Given the description of an element on the screen output the (x, y) to click on. 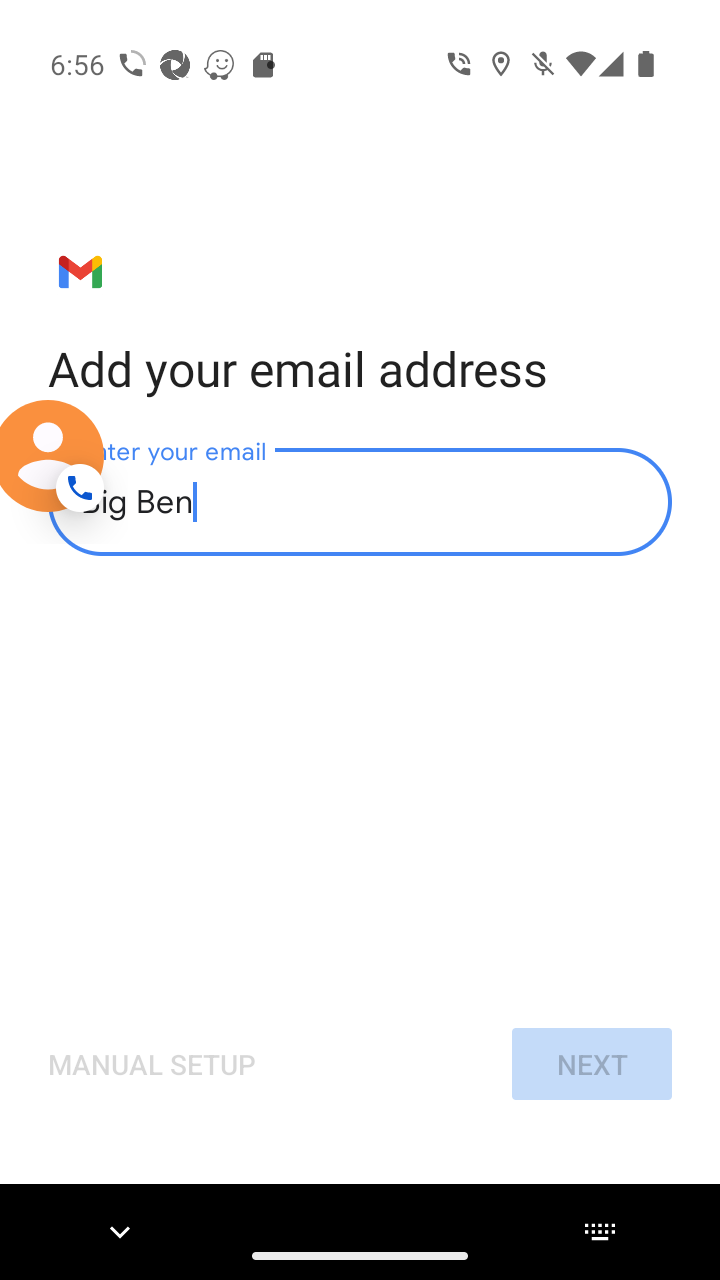
Big Ben (359, 501)
MANUAL SETUP (151, 1064)
NEXT (591, 1064)
